Given the description of an element on the screen output the (x, y) to click on. 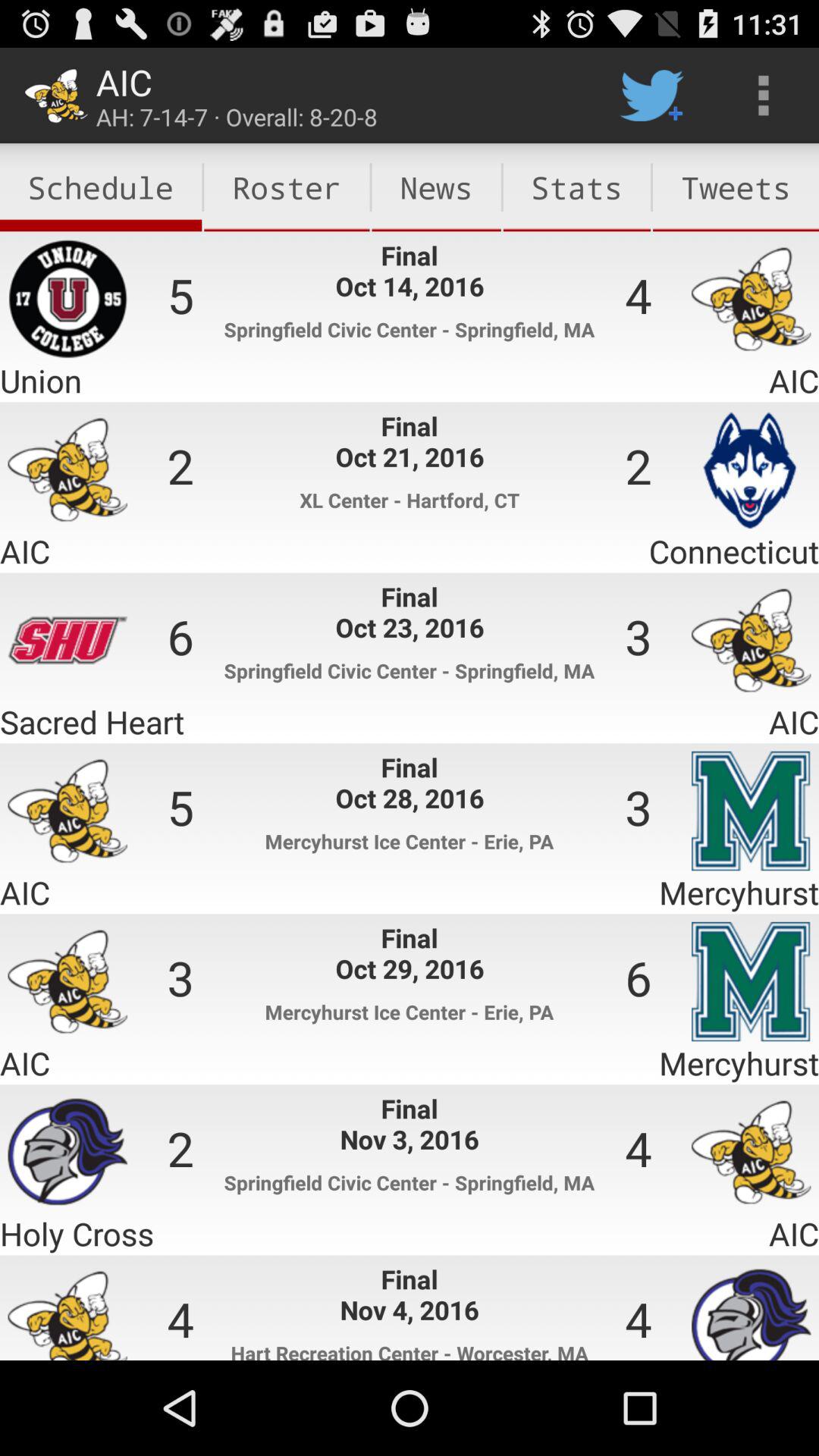
press the app below the ah 7 14 item (286, 187)
